Given the description of an element on the screen output the (x, y) to click on. 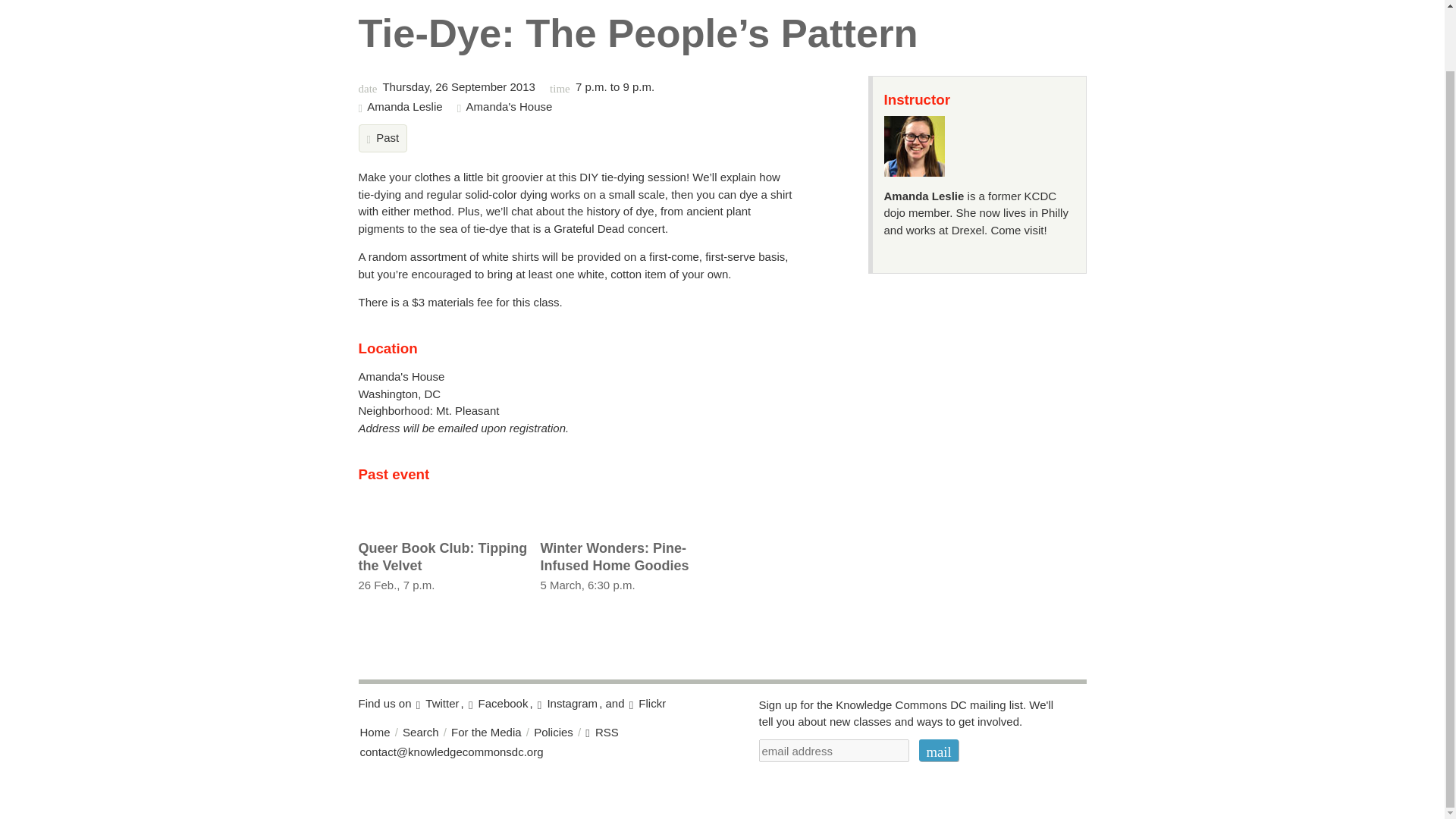
For the Media (625, 560)
mail (485, 731)
Search (938, 750)
mail (421, 731)
Policies (938, 750)
Home (443, 560)
